Given the description of an element on the screen output the (x, y) to click on. 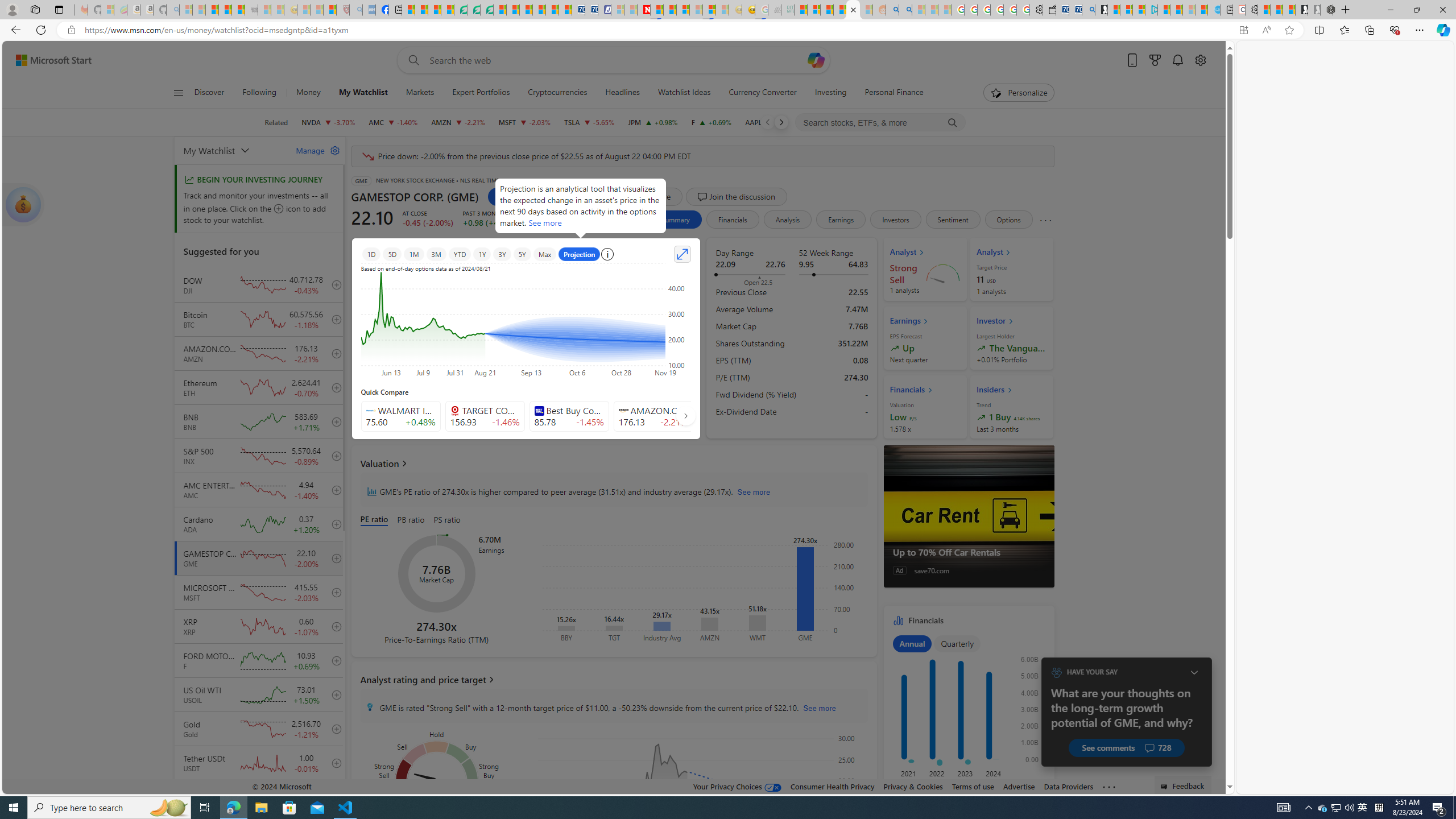
Feedback (1182, 784)
Quarterly (956, 643)
Privacy & Cookies (913, 785)
Class: autoSuggestIcon-DS-EntryPoint1-2 (623, 410)
Max (544, 254)
Class: oneFooter_seeMore-DS-EntryPoint1-1 (1108, 786)
share dialog (583, 196)
PE ratio (376, 520)
AMZN AMAZON.COM, INC. decrease 176.13 -3.98 -2.21% (457, 122)
Microsoft account | Privacy - Sleeping (616, 9)
Your Privacy Choices (737, 785)
add to your watchlist (333, 797)
